Given the description of an element on the screen output the (x, y) to click on. 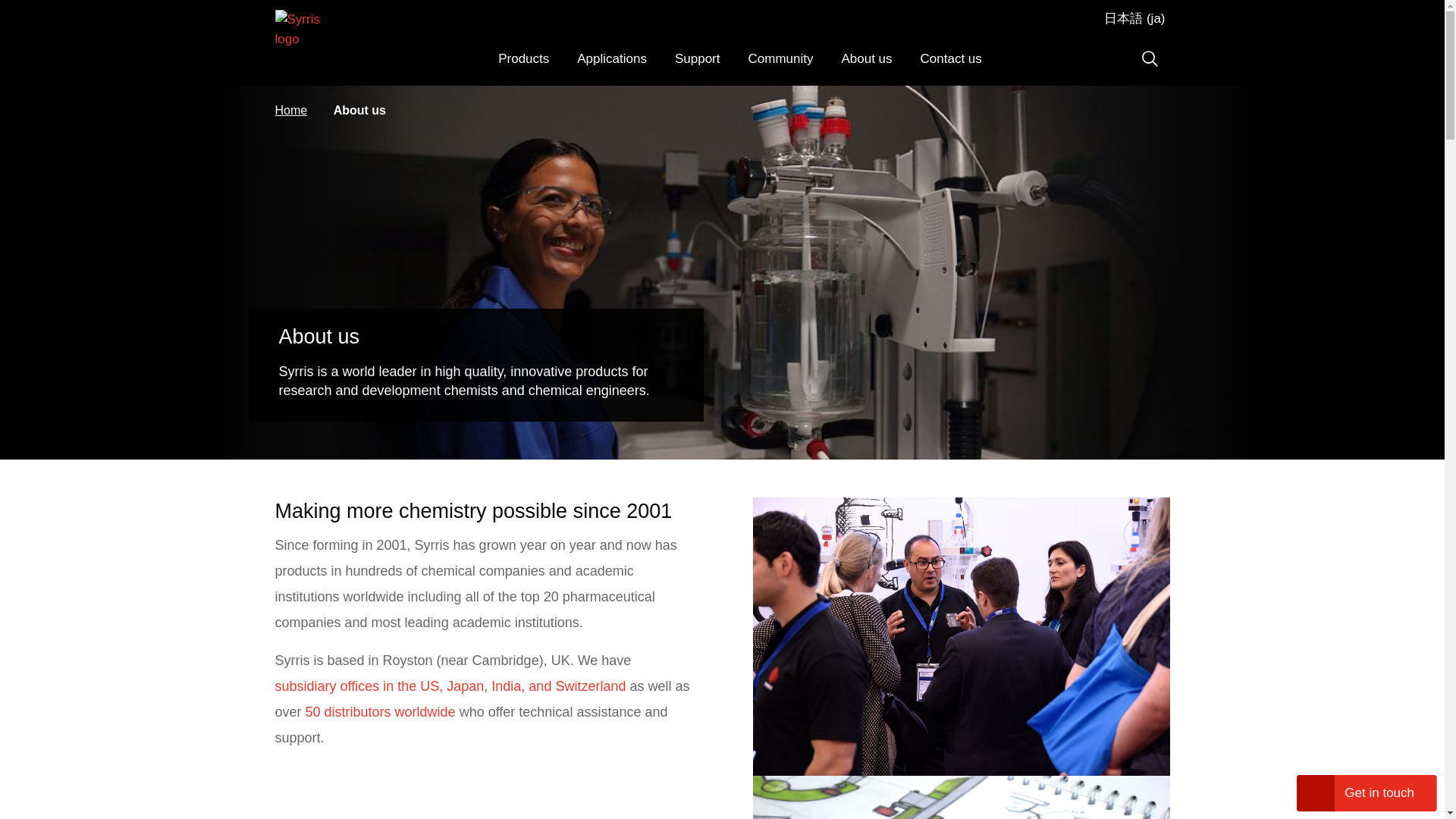
Syrris homepage (303, 47)
Applications (611, 62)
Support (697, 62)
Products (522, 62)
